Given the description of an element on the screen output the (x, y) to click on. 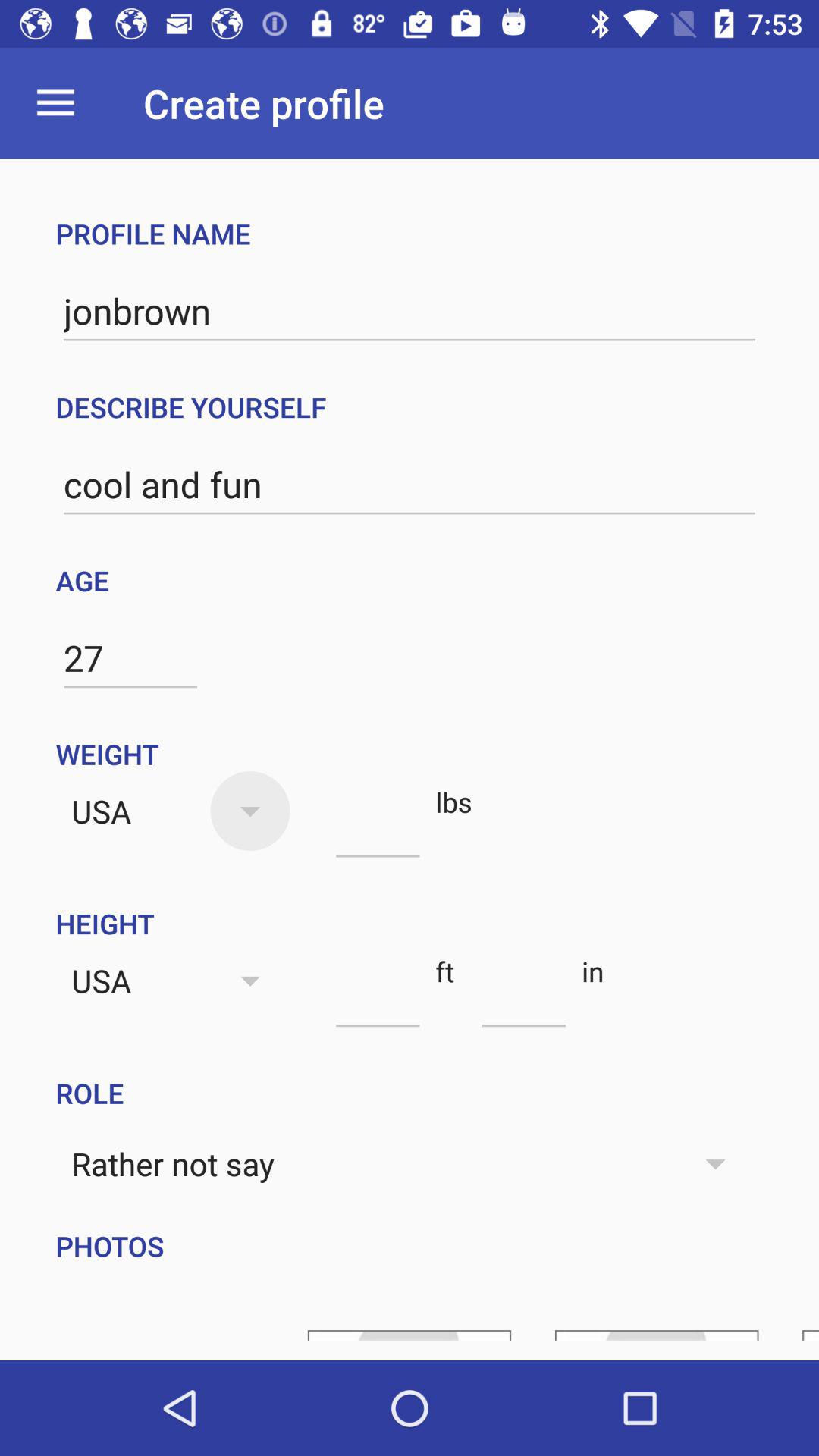
launch the icon above profile name (55, 103)
